Given the description of an element on the screen output the (x, y) to click on. 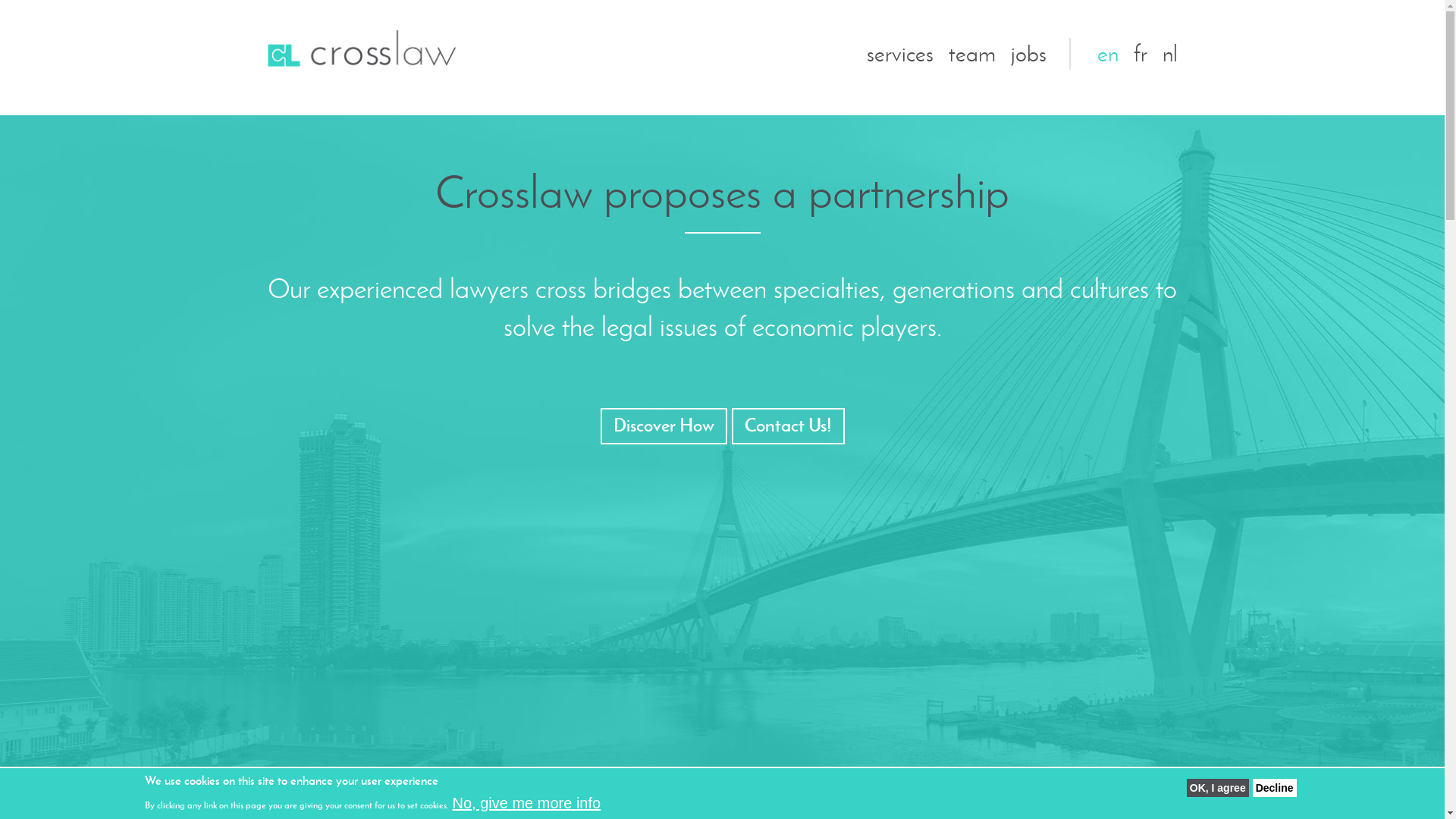
Contact Us! Element type: text (787, 425)
Discover How Element type: text (663, 425)
Decline Element type: text (1274, 787)
nl Element type: text (1168, 53)
OK, I agree Element type: text (1217, 787)
en Element type: text (1106, 53)
team Element type: text (970, 53)
jobs Element type: text (1027, 53)
services Element type: text (899, 53)
Crosslaw Element type: text (360, 48)
No, give me more info Element type: text (525, 803)
fr Element type: text (1139, 53)
Skip to main content Element type: text (630, 0)
